Given the description of an element on the screen output the (x, y) to click on. 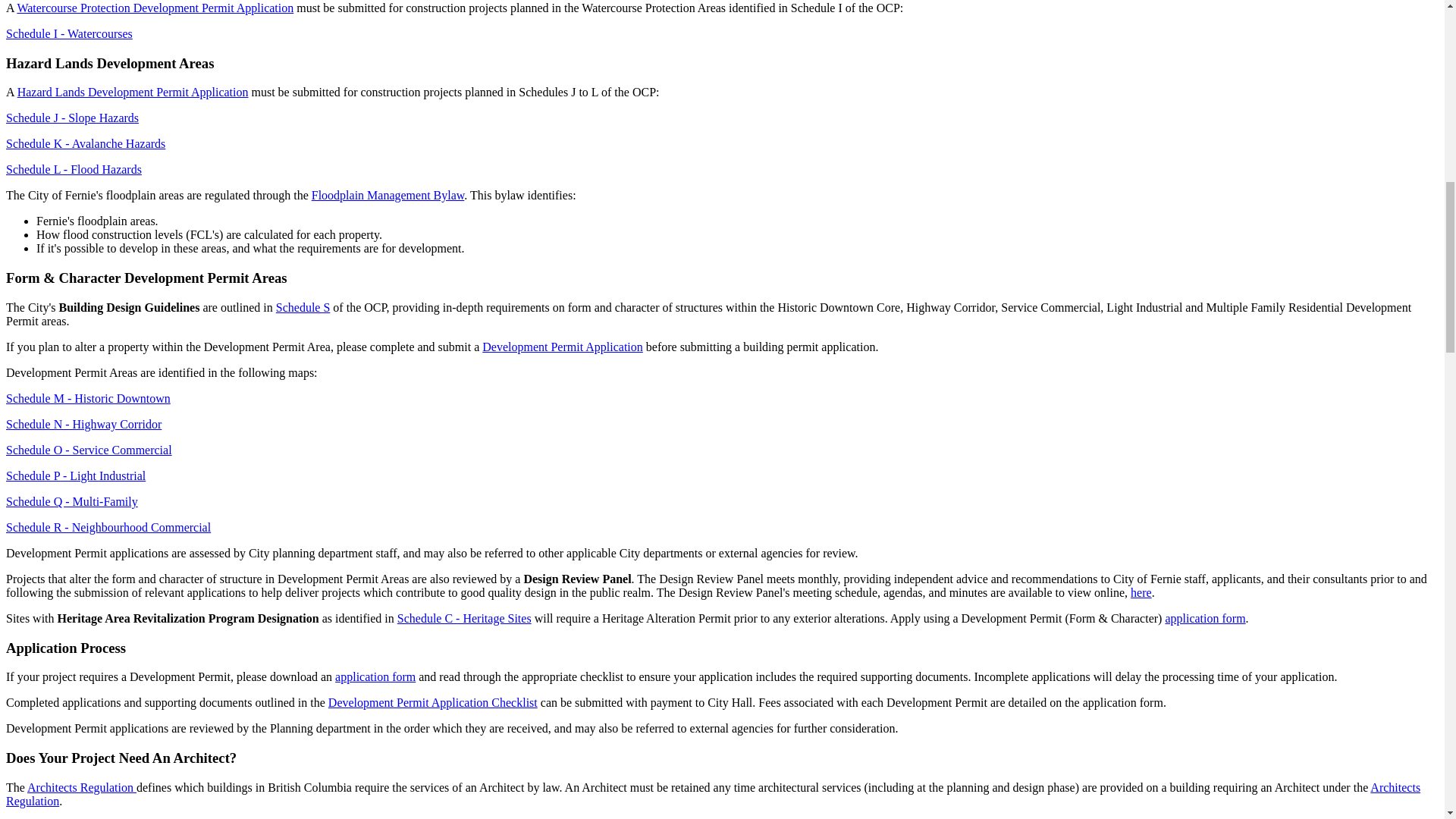
Development Permit Application (562, 346)
Schedule M - Historic Downtown (87, 398)
Schedule J - Slope Hazards (71, 117)
Schedule N - Highway Corridor (83, 423)
Floodplain Management Bylaw (387, 195)
Schedule S (303, 307)
Schedule J - Slope Hazards (71, 117)
Schedule O - Service Commercial (88, 449)
application form (374, 676)
Development Permit Application (562, 346)
